Given the description of an element on the screen output the (x, y) to click on. 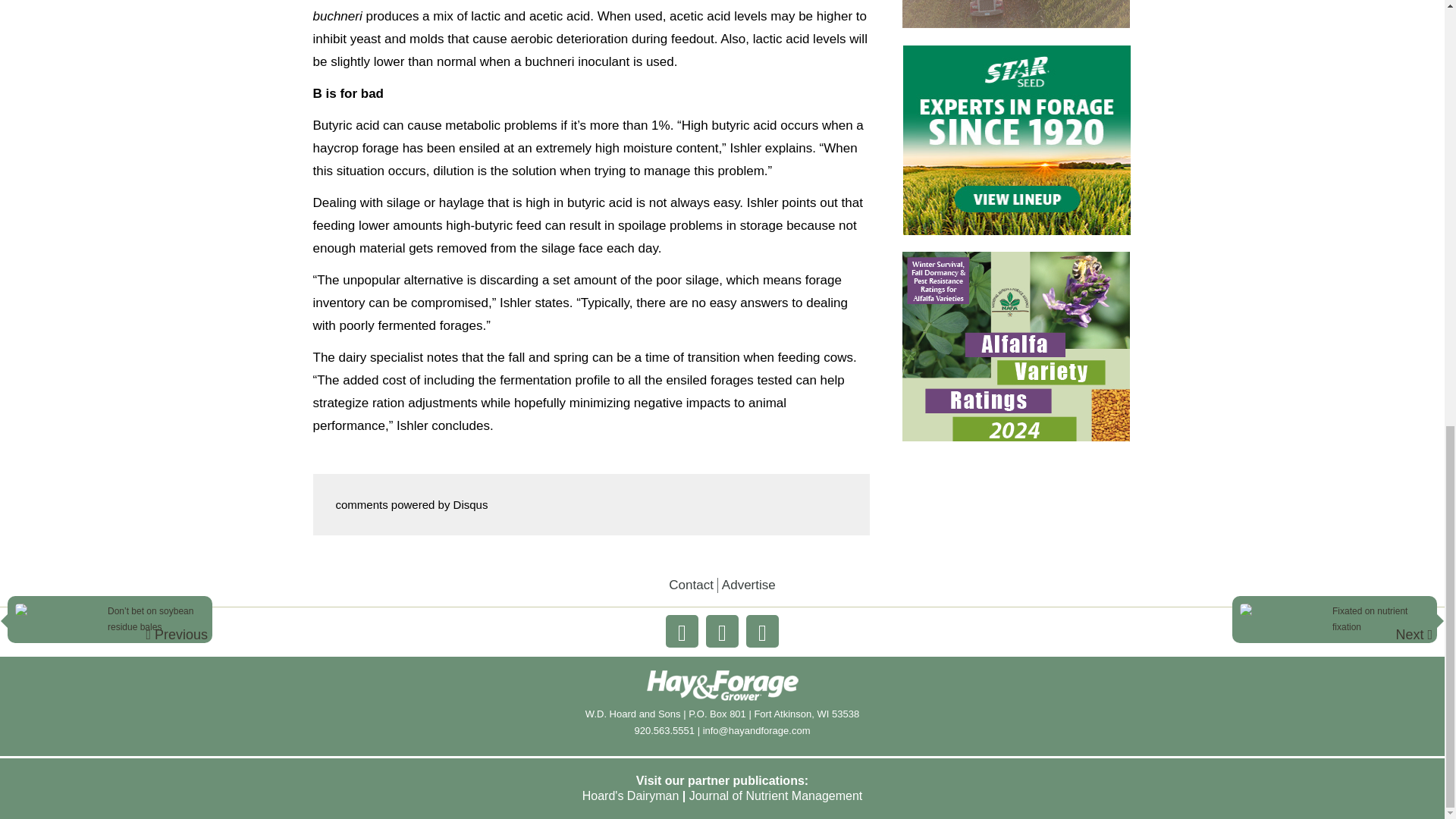
Journal of Nutrient Management (775, 795)
